Given the description of an element on the screen output the (x, y) to click on. 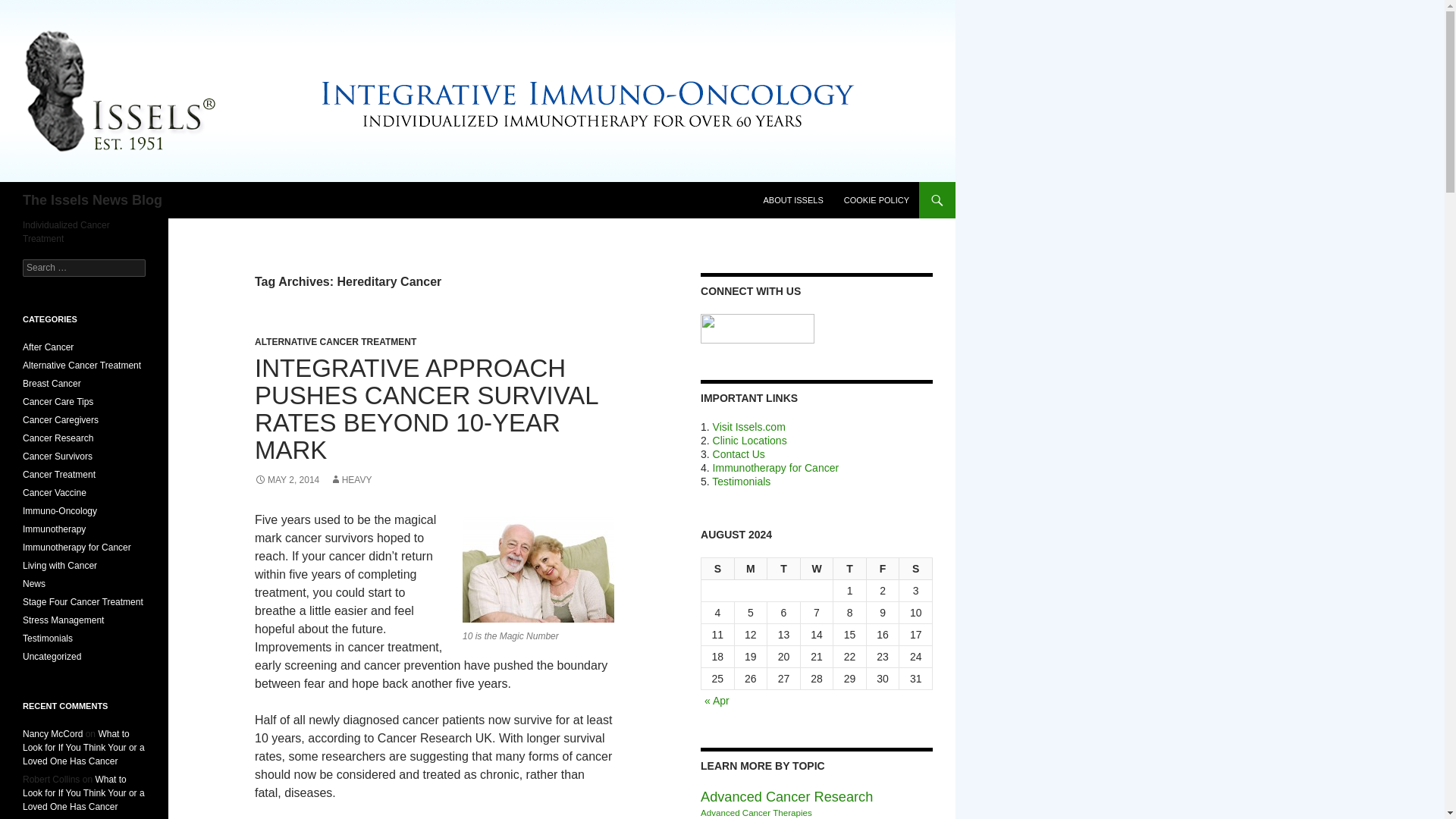
Wednesday (817, 568)
COOKIE POLICY (876, 199)
Saturday (916, 568)
Monday (751, 568)
MAY 2, 2014 (286, 480)
ALTERNATIVE CANCER TREATMENT (335, 341)
Tuesday (783, 568)
ABOUT ISSELS (792, 199)
The Issels News Blog (92, 199)
